Given the description of an element on the screen output the (x, y) to click on. 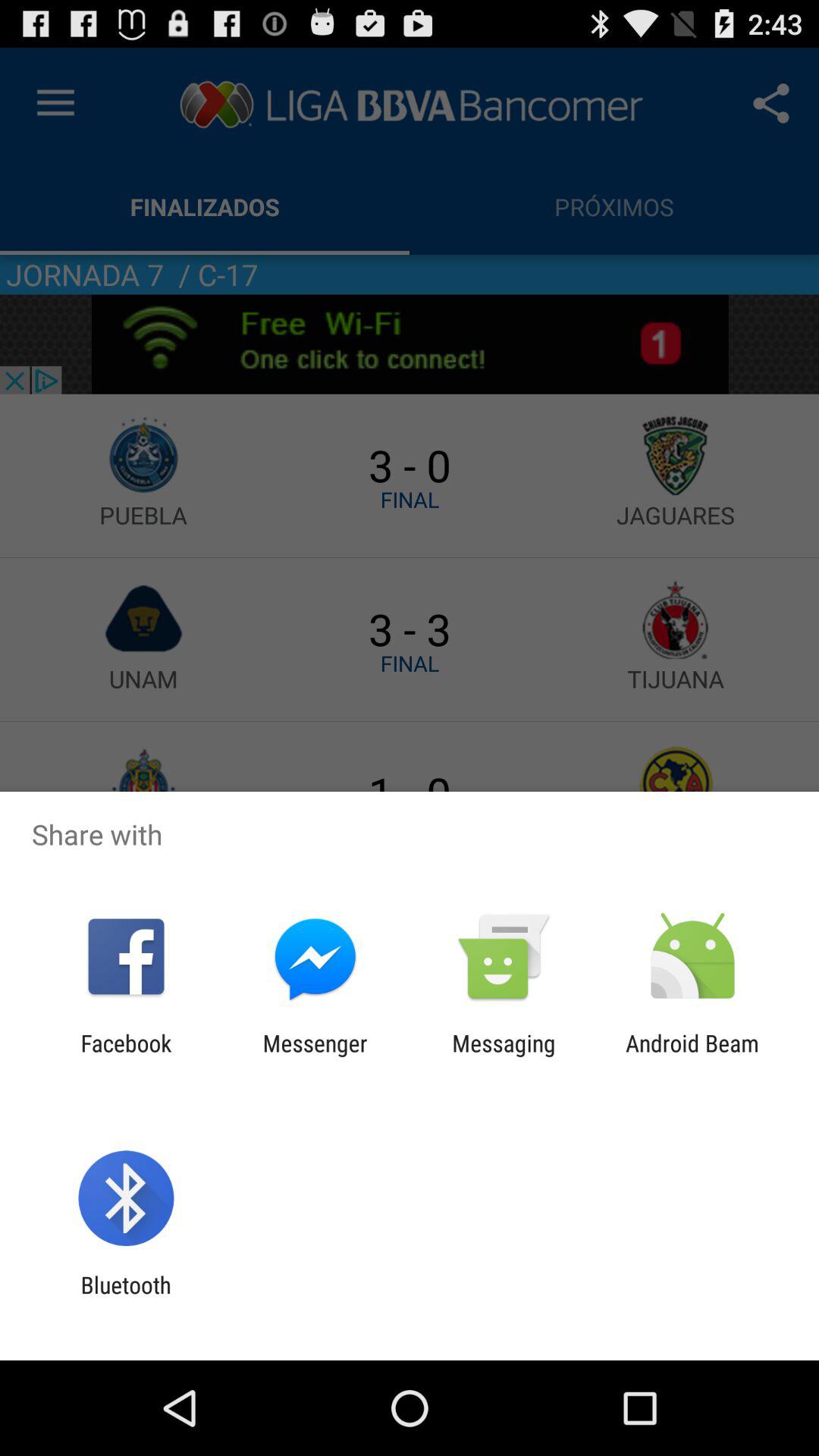
open app to the left of the android beam icon (503, 1056)
